Given the description of an element on the screen output the (x, y) to click on. 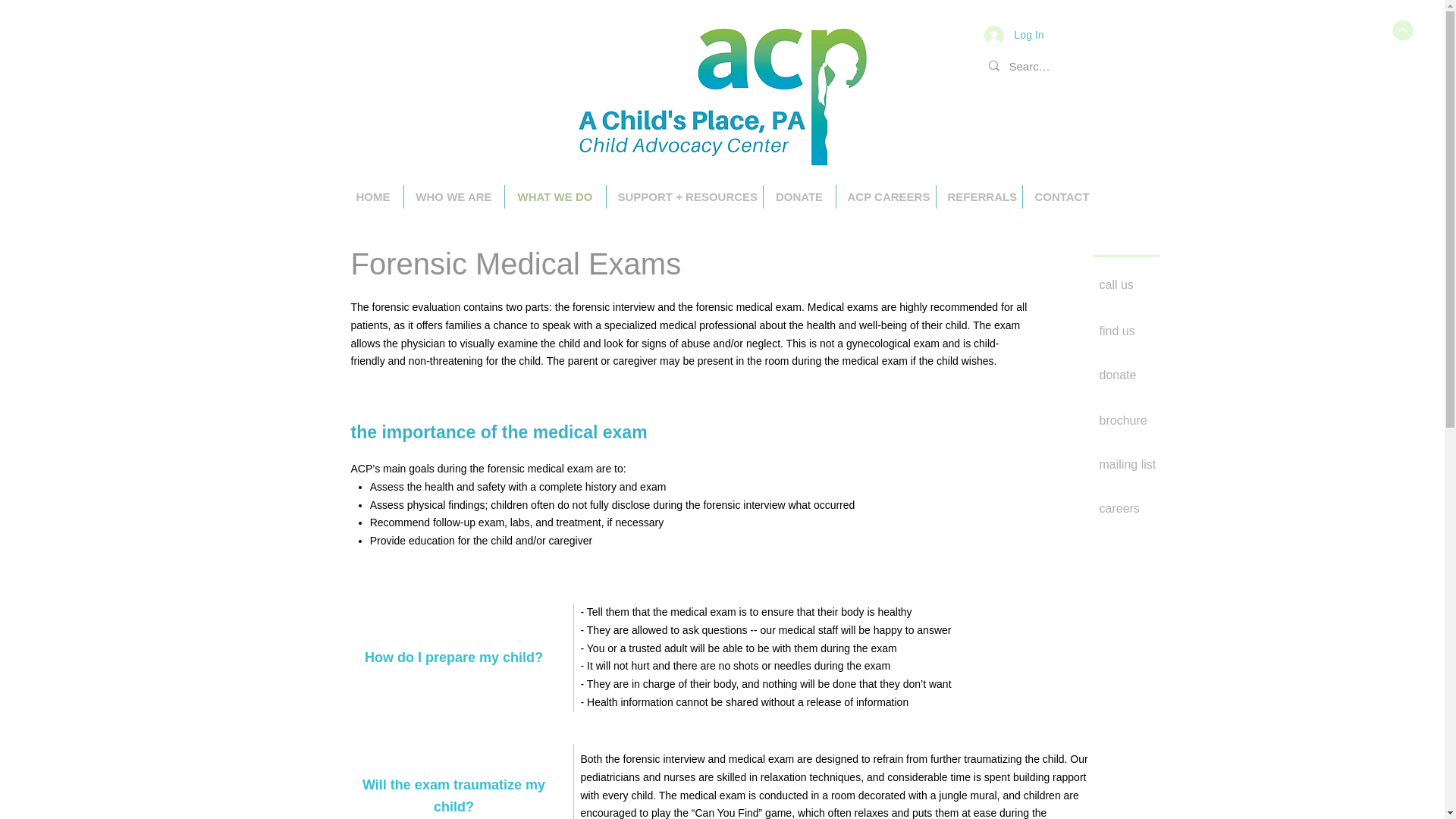
WHO WE ARE (453, 196)
HOME (372, 196)
mailing list (1152, 465)
call us (1152, 285)
brochure (1152, 421)
REFERRALS (979, 196)
careers (1152, 509)
CONTACT (1061, 196)
Log In (1014, 35)
donate (1152, 375)
